Given the description of an element on the screen output the (x, y) to click on. 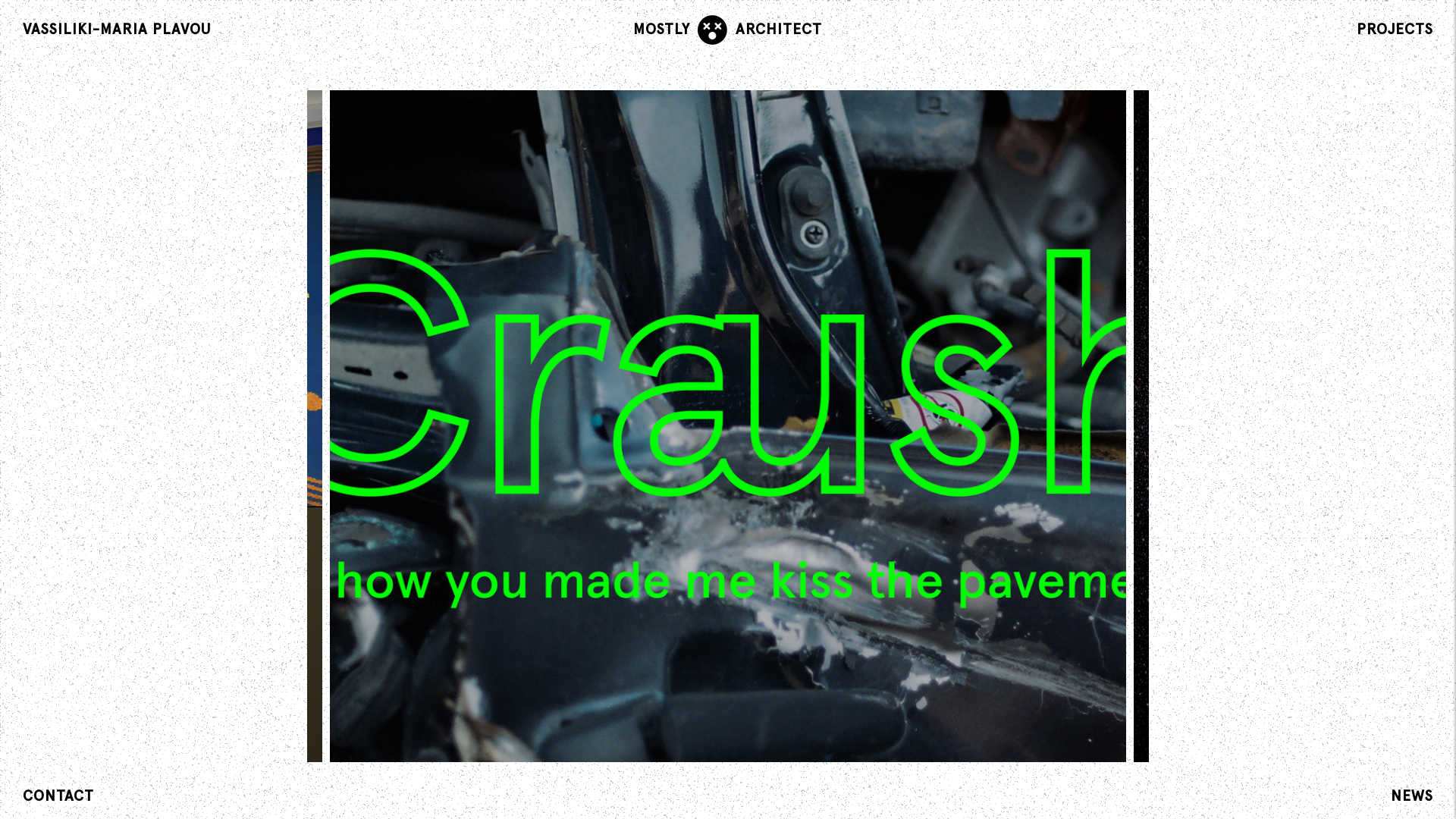
PROJECTS Element type: text (1394, 30)
MOSTLY
ARCHITECT Element type: text (727, 30)
VASSILIKI-MARIA PLAVOU Element type: text (116, 30)
